Given the description of an element on the screen output the (x, y) to click on. 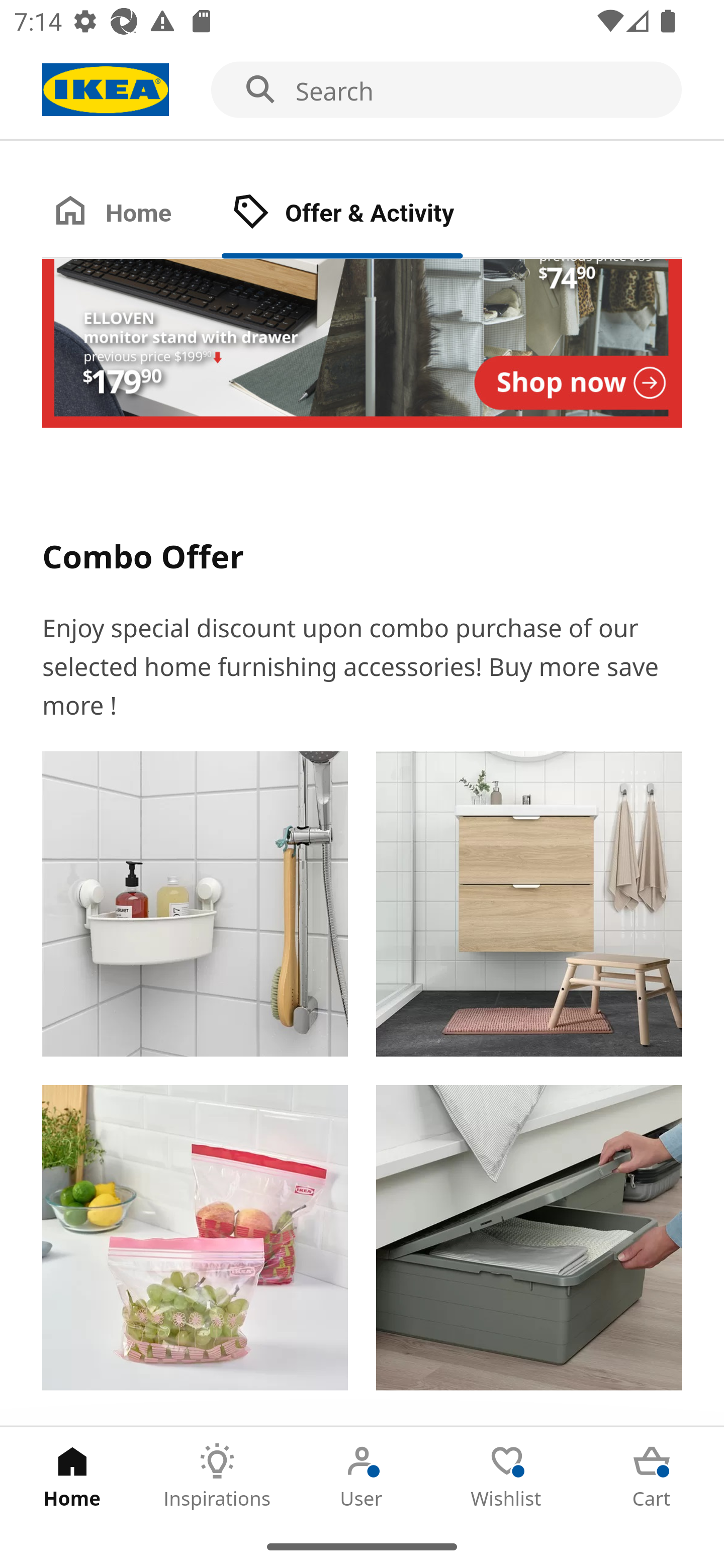
Search (361, 90)
Home
Tab 1 of 2 (131, 213)
Offer & Activity
Tab 2 of 2 (363, 213)
Home
Tab 1 of 5 (72, 1476)
Inspirations
Tab 2 of 5 (216, 1476)
User
Tab 3 of 5 (361, 1476)
Wishlist
Tab 4 of 5 (506, 1476)
Cart
Tab 5 of 5 (651, 1476)
